Given the description of an element on the screen output the (x, y) to click on. 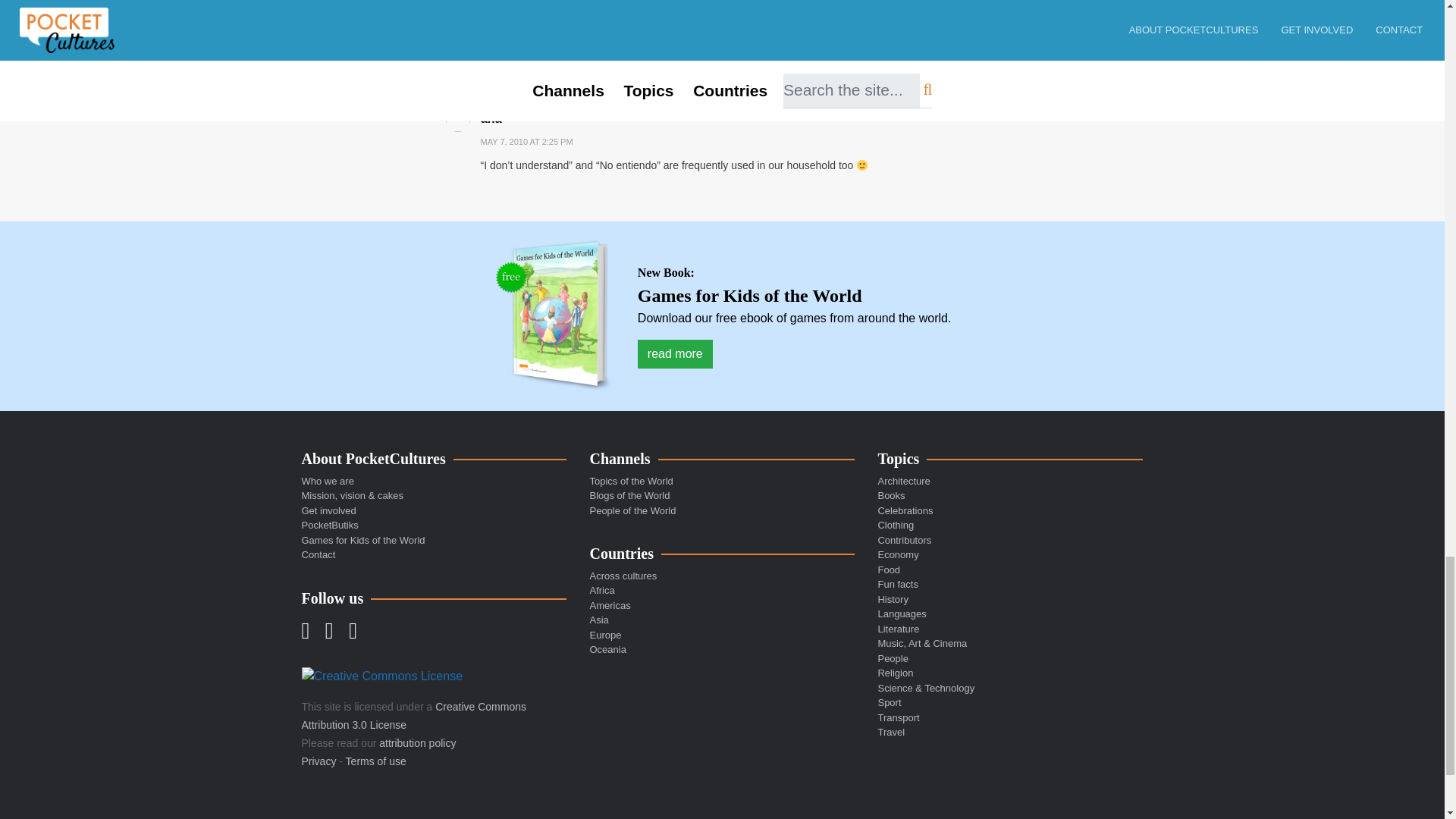
Privacy (318, 761)
Games for Kids of the World (553, 315)
Attribution policy (416, 743)
Terms of use (376, 761)
